Given the description of an element on the screen output the (x, y) to click on. 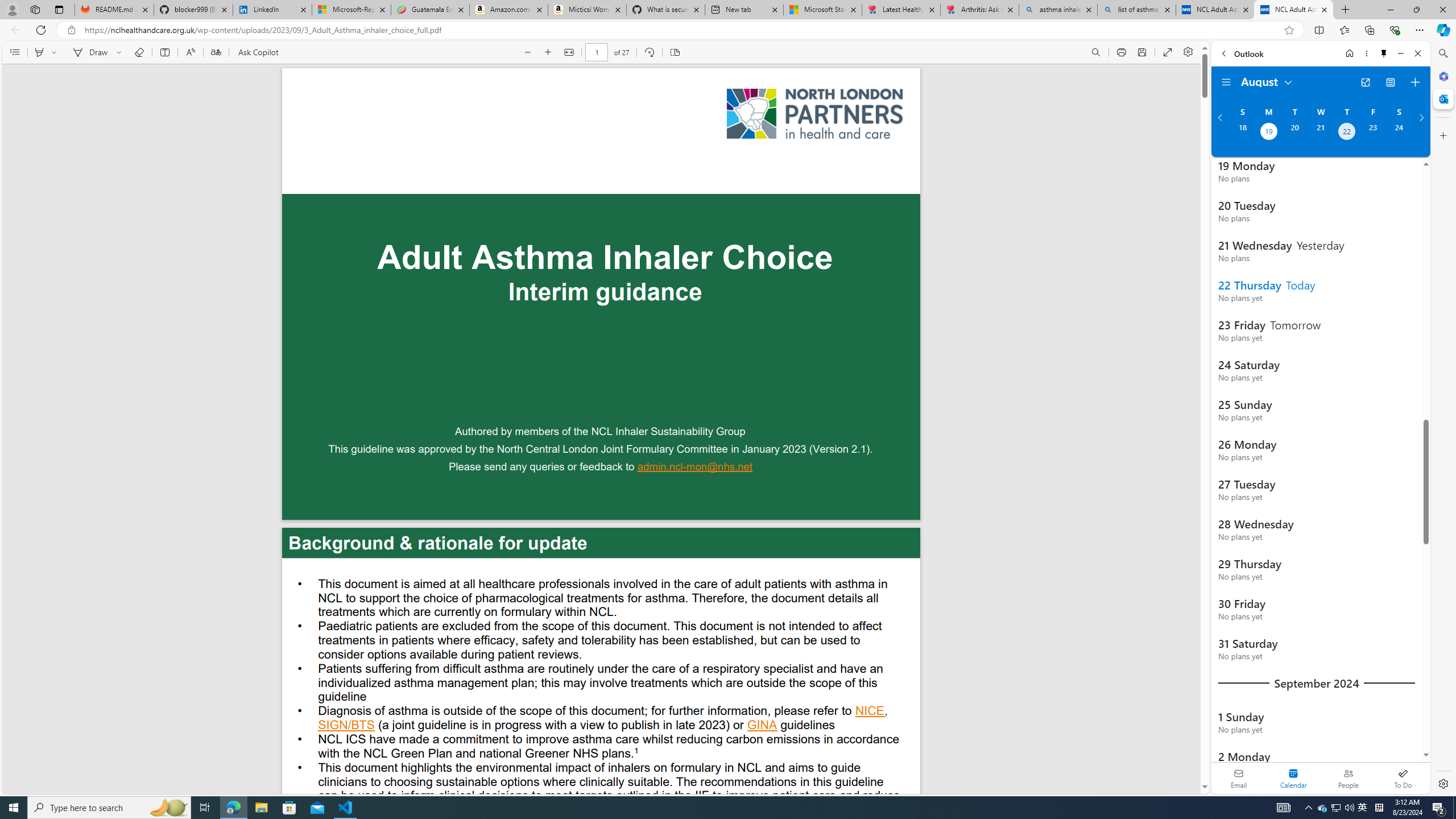
LinkedIn (272, 9)
PDF bar (601, 51)
Contents (14, 52)
SIGN/BTS (346, 726)
Select ink properties (120, 52)
